Given the description of an element on the screen output the (x, y) to click on. 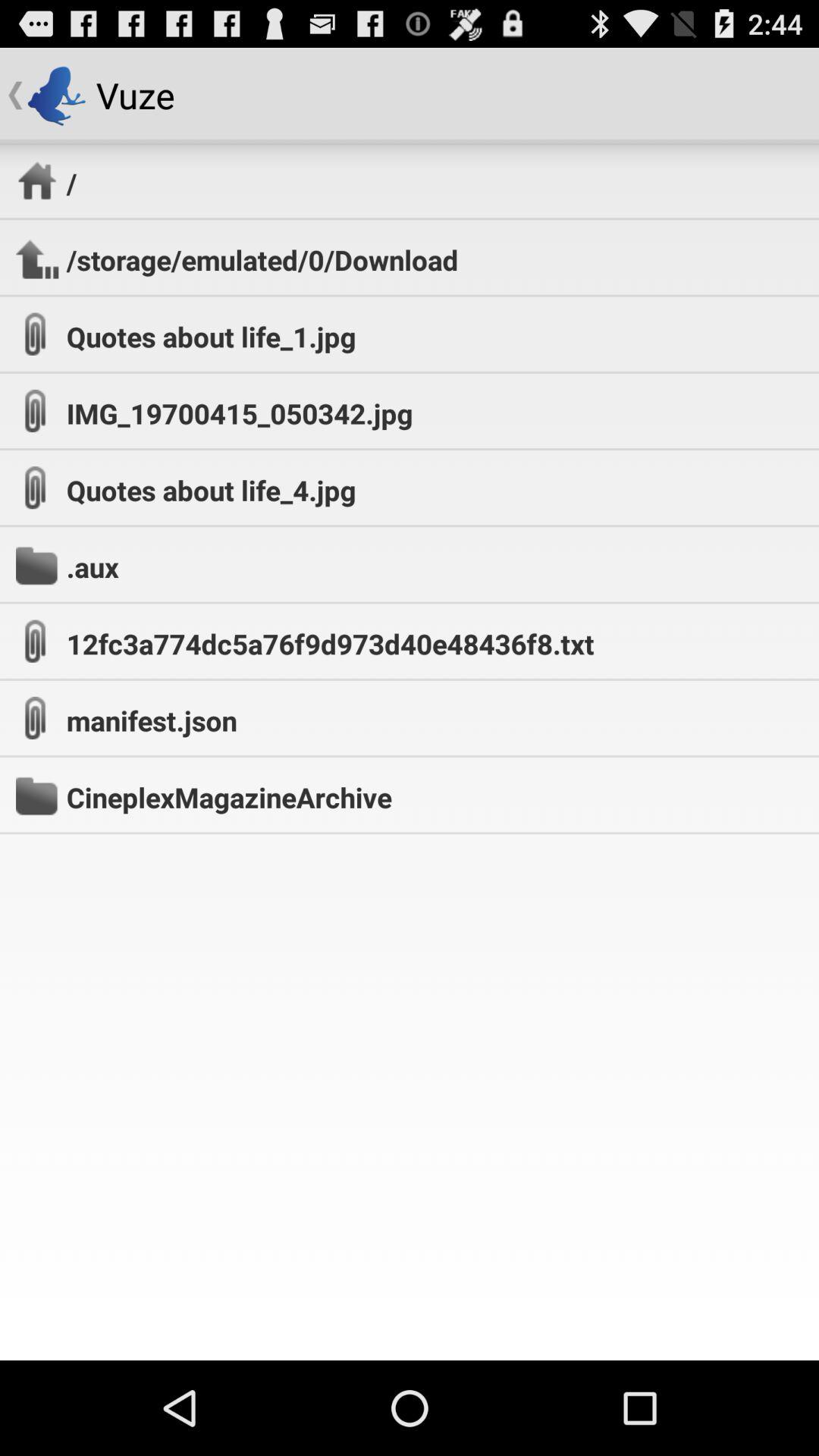
select cineplexmagazinearchive item (228, 797)
